Given the description of an element on the screen output the (x, y) to click on. 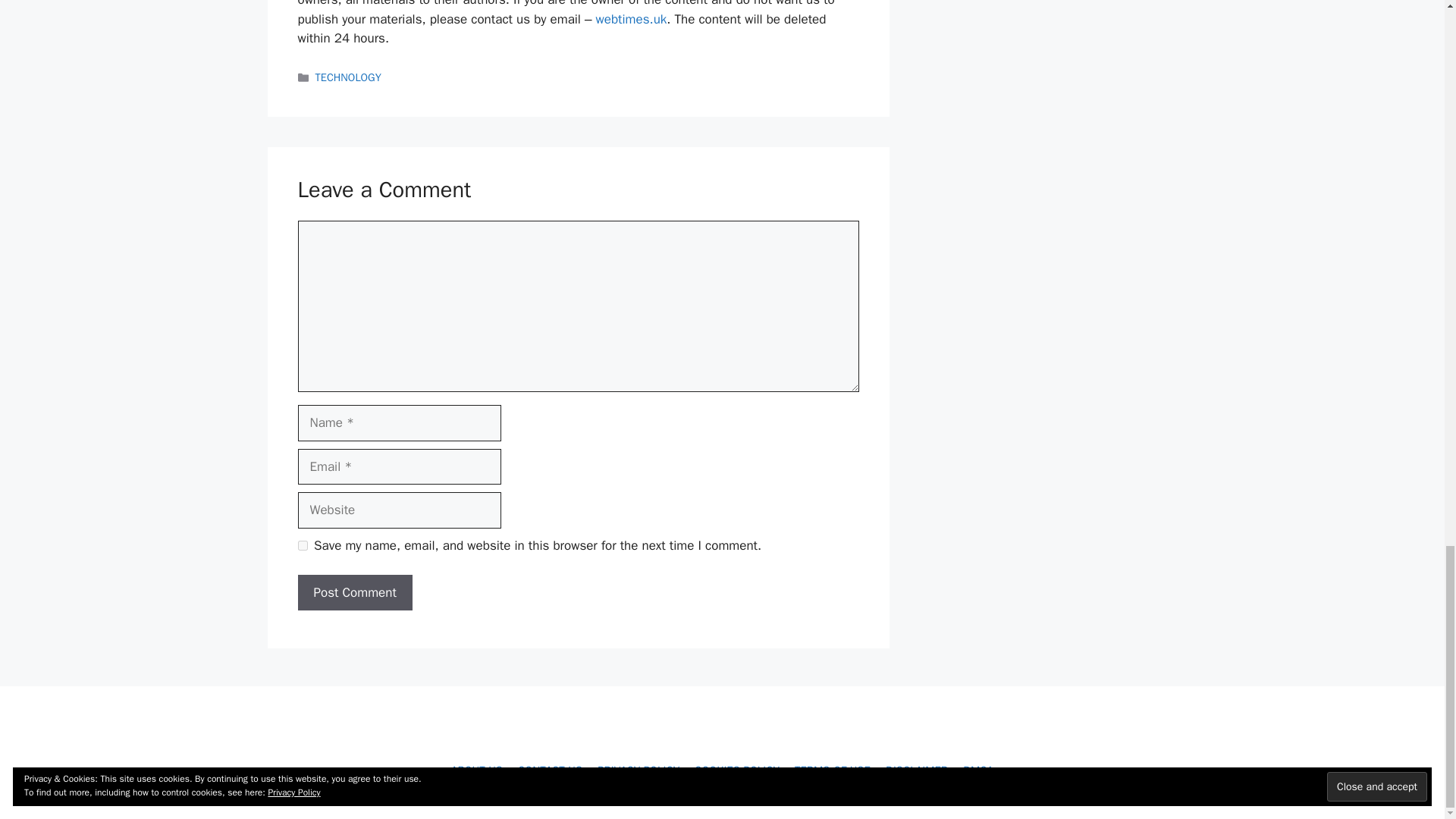
yes (302, 545)
webtimes.uk (630, 19)
Post Comment (354, 592)
TECHNOLOGY (348, 77)
